Given the description of an element on the screen output the (x, y) to click on. 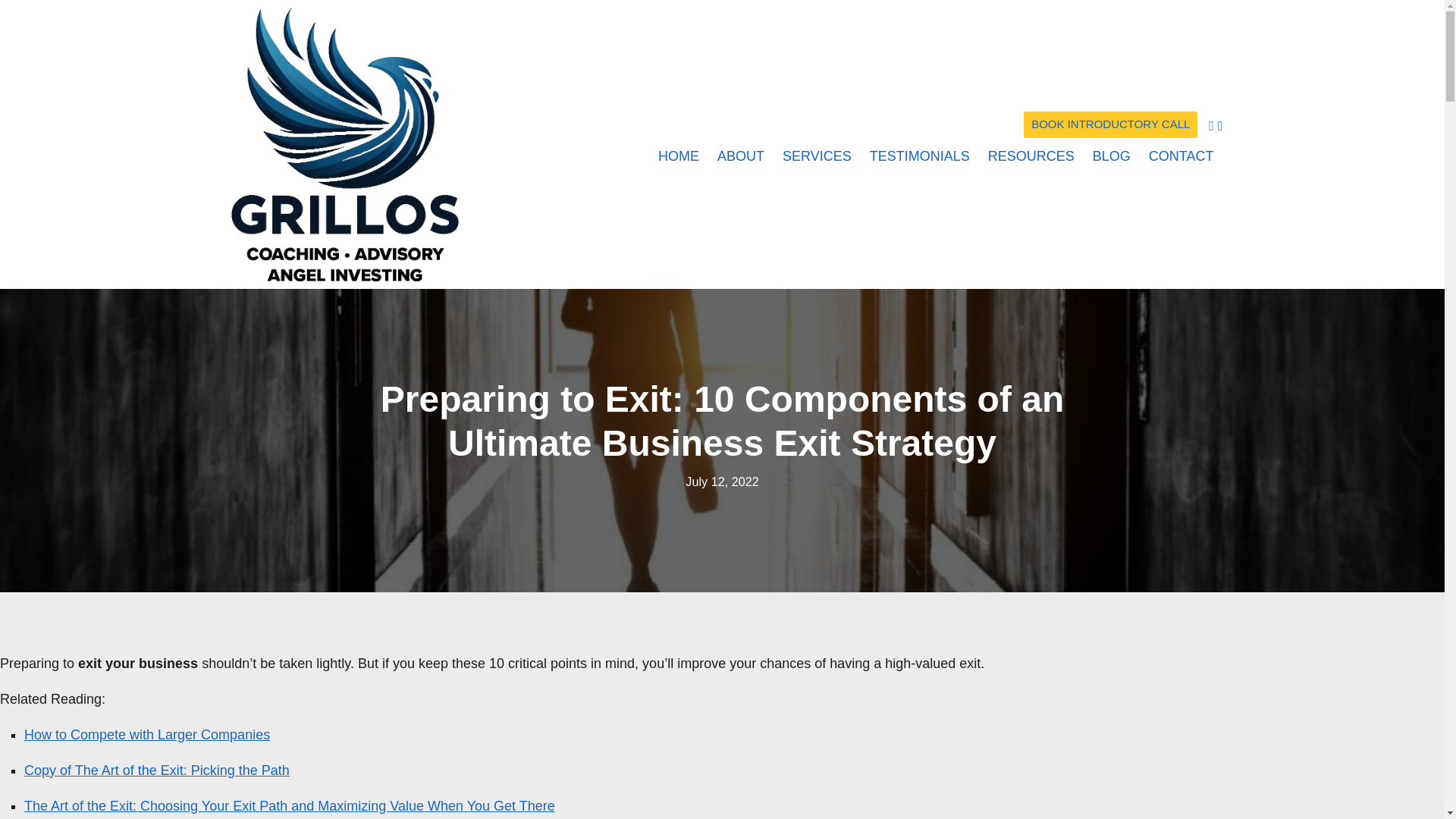
CONTACT (1177, 154)
RESOURCES (1030, 154)
TESTIMONIALS (919, 154)
How to Compete with Larger Companies (146, 734)
HOME (678, 154)
ABOUT (740, 154)
SERVICES (816, 154)
Copy of The Art of the Exit: Picking the Path (156, 770)
BOOK INTRODUCTORY CALL (1109, 124)
